Given the description of an element on the screen output the (x, y) to click on. 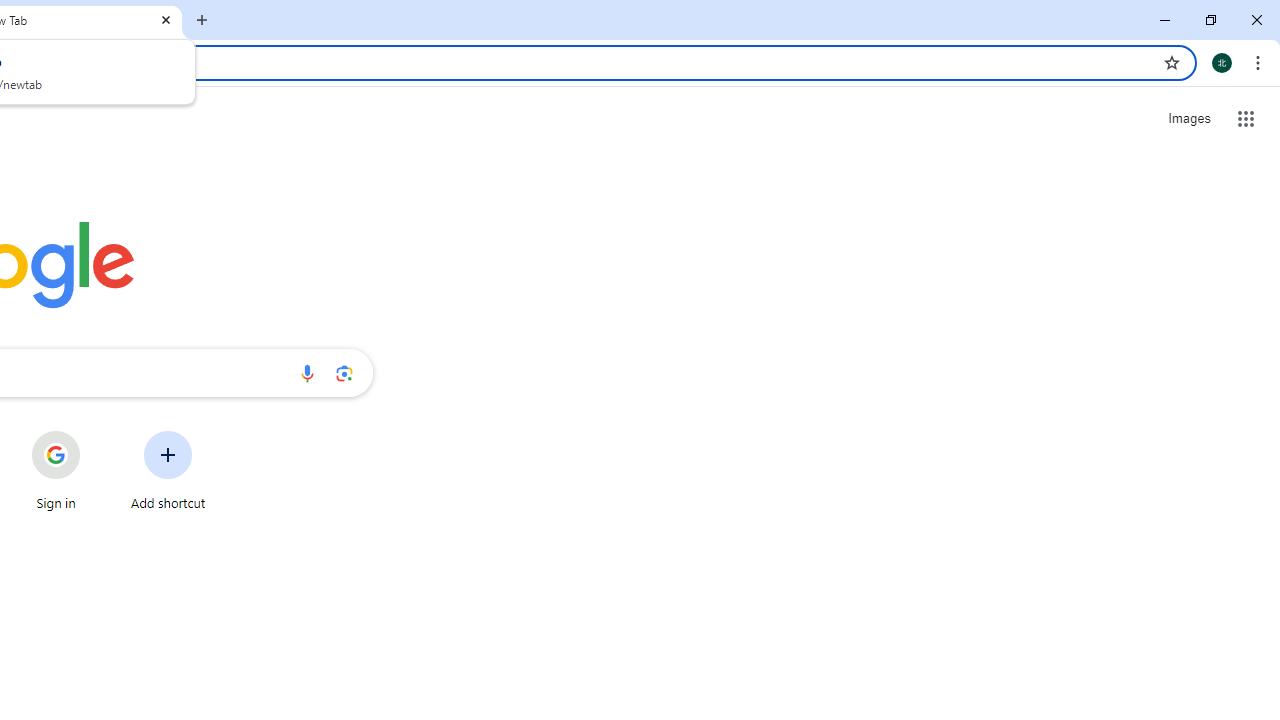
Sign in (56, 470)
Google apps (1245, 118)
Search by voice (307, 372)
Search by image (344, 372)
More actions for Sign in shortcut (95, 433)
Add shortcut (168, 470)
Search for Images  (1188, 119)
